Given the description of an element on the screen output the (x, y) to click on. 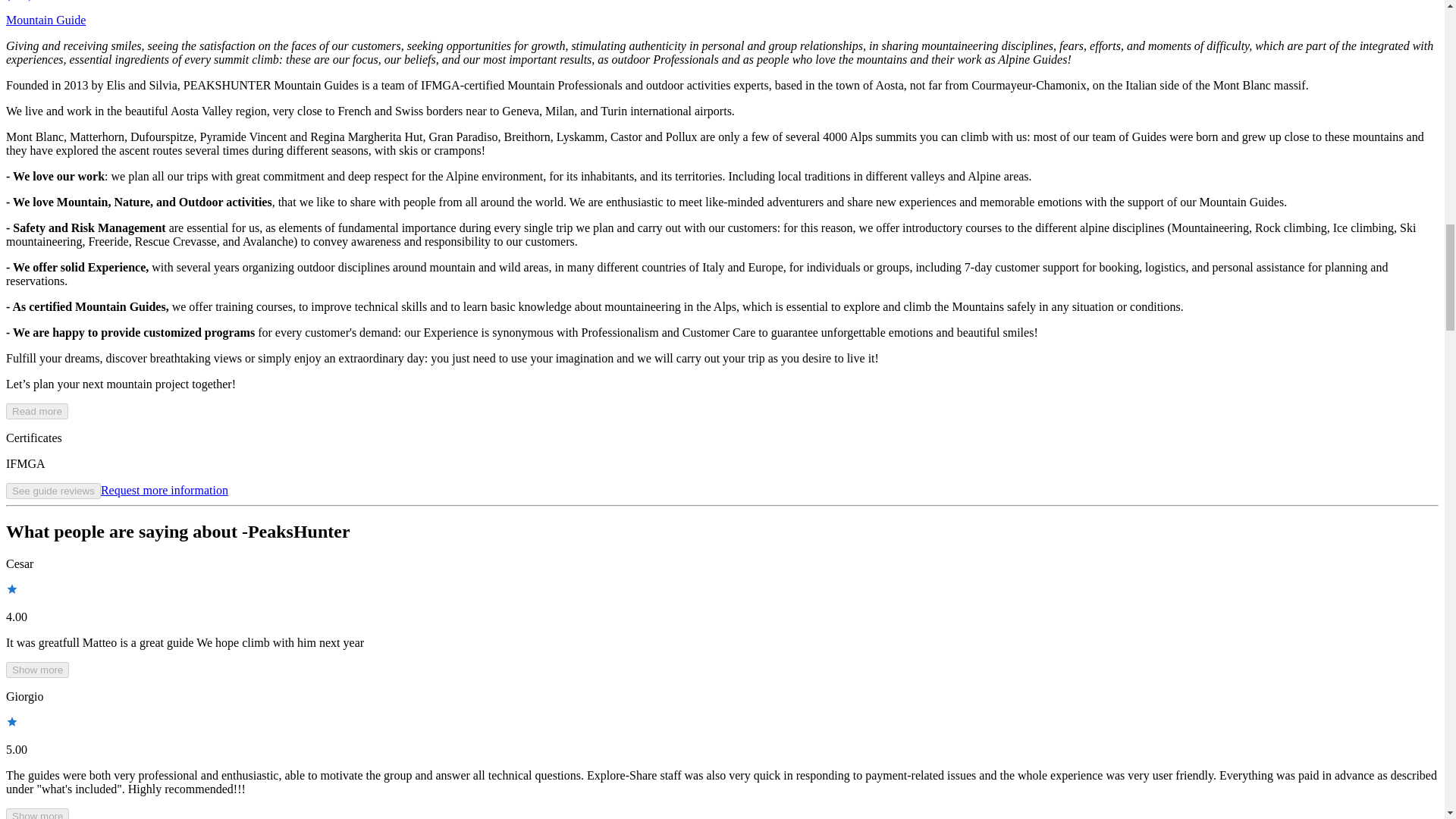
See guide reviews (52, 490)
Read more (36, 411)
Show more (36, 669)
Show more (36, 813)
Request more information (164, 490)
